Given the description of an element on the screen output the (x, y) to click on. 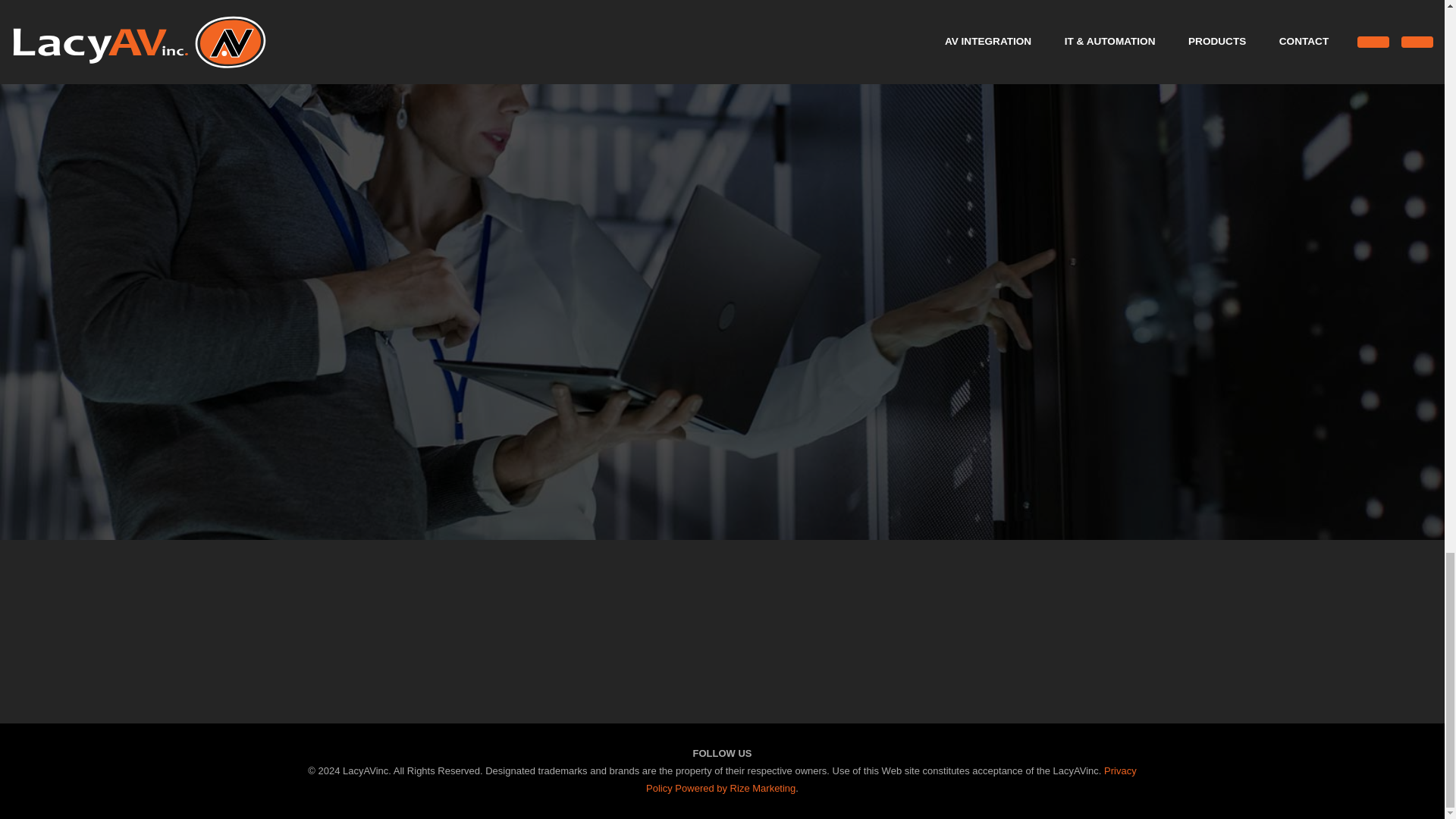
Privacy Policy (891, 778)
Powered by Rize Marketing (734, 787)
Privacy Policy (891, 778)
Rize Marketing (734, 787)
